Given the description of an element on the screen output the (x, y) to click on. 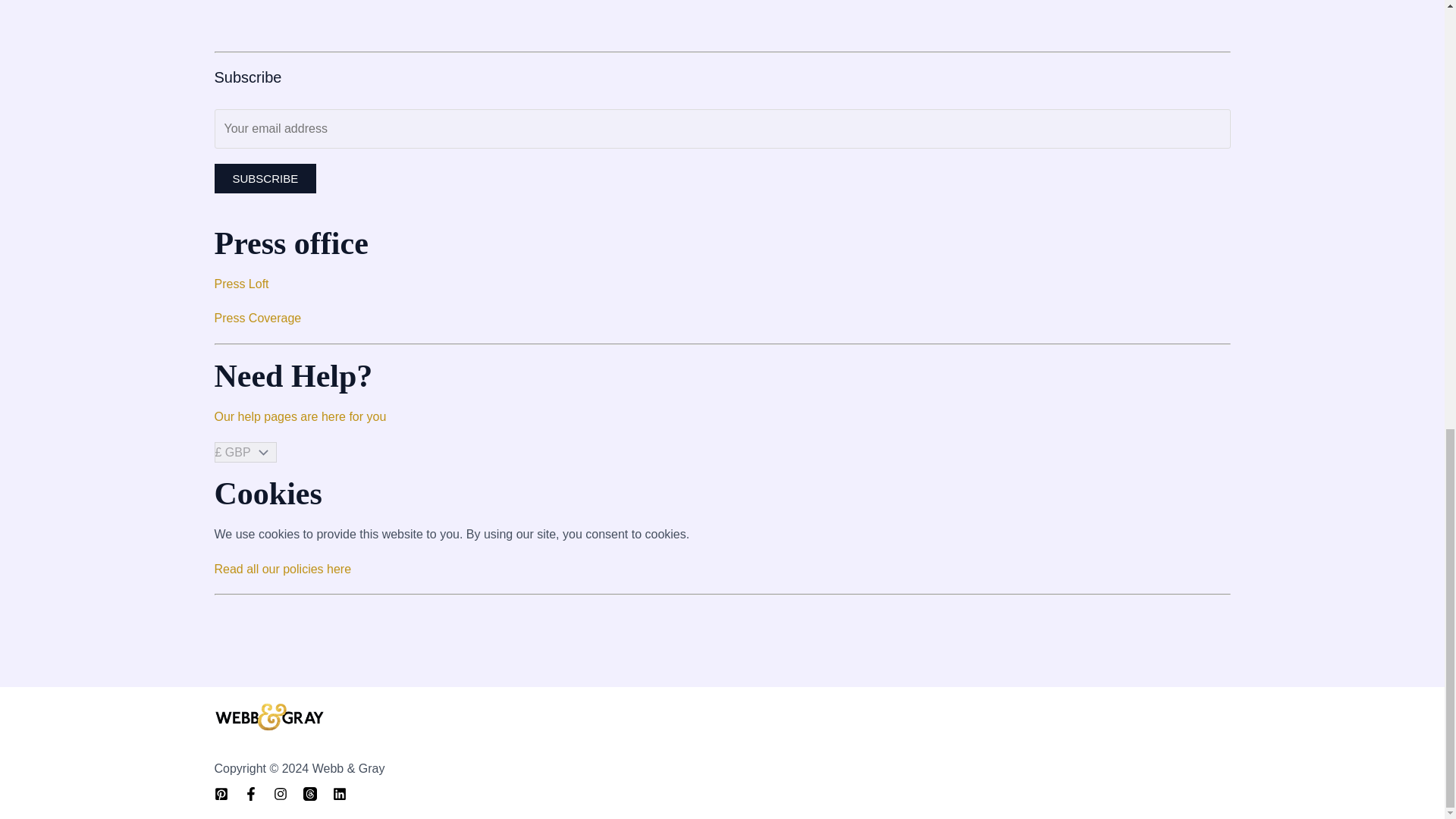
Read all our policies here (282, 568)
Press Loft (240, 283)
SUBSCRIBE (264, 178)
Our help pages are here for you (299, 416)
Press Coverage (257, 318)
